Given the description of an element on the screen output the (x, y) to click on. 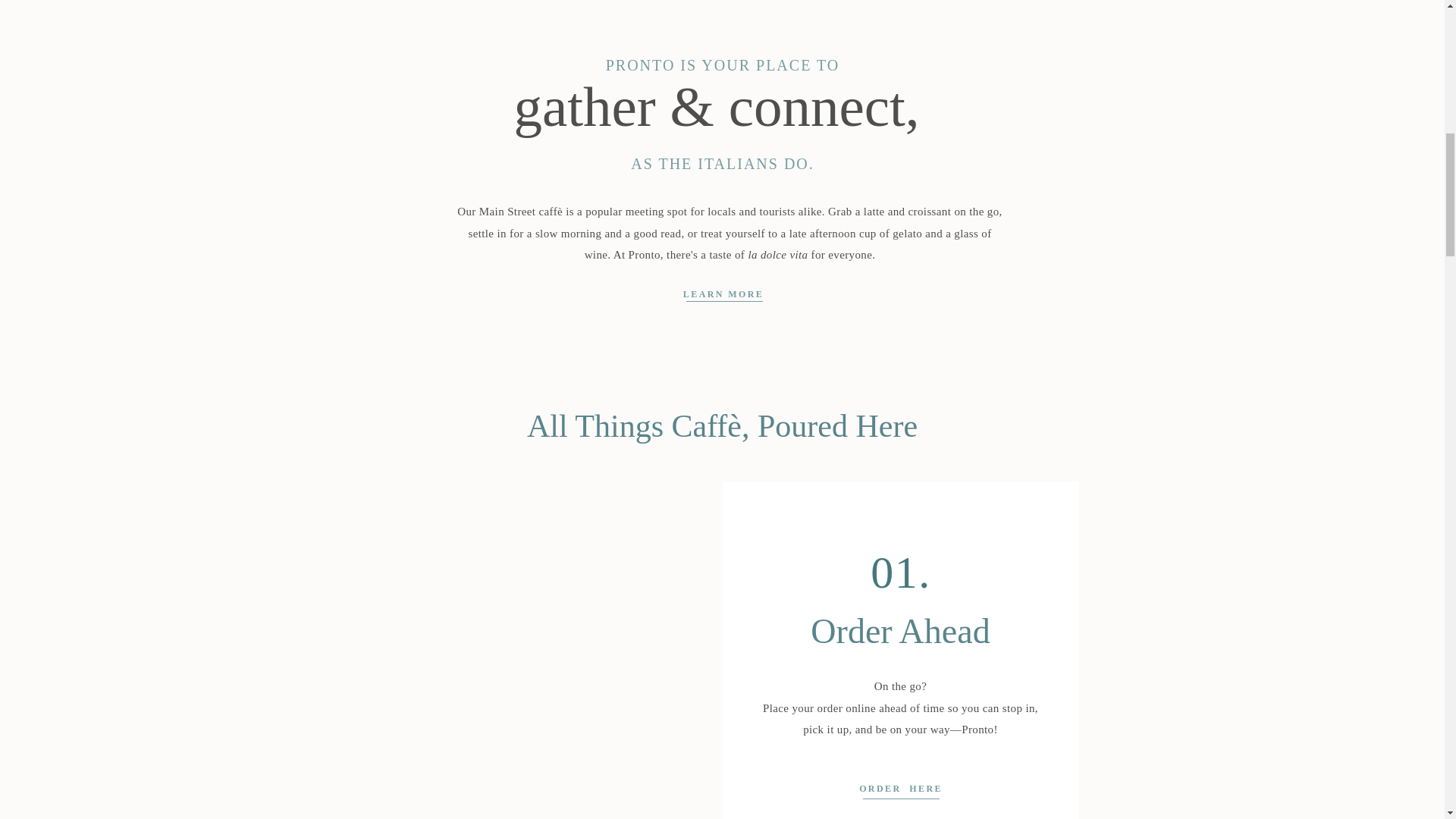
Order Ahead (901, 639)
ORDER  HERE (900, 788)
LEARN MORE (723, 291)
